Given the description of an element on the screen output the (x, y) to click on. 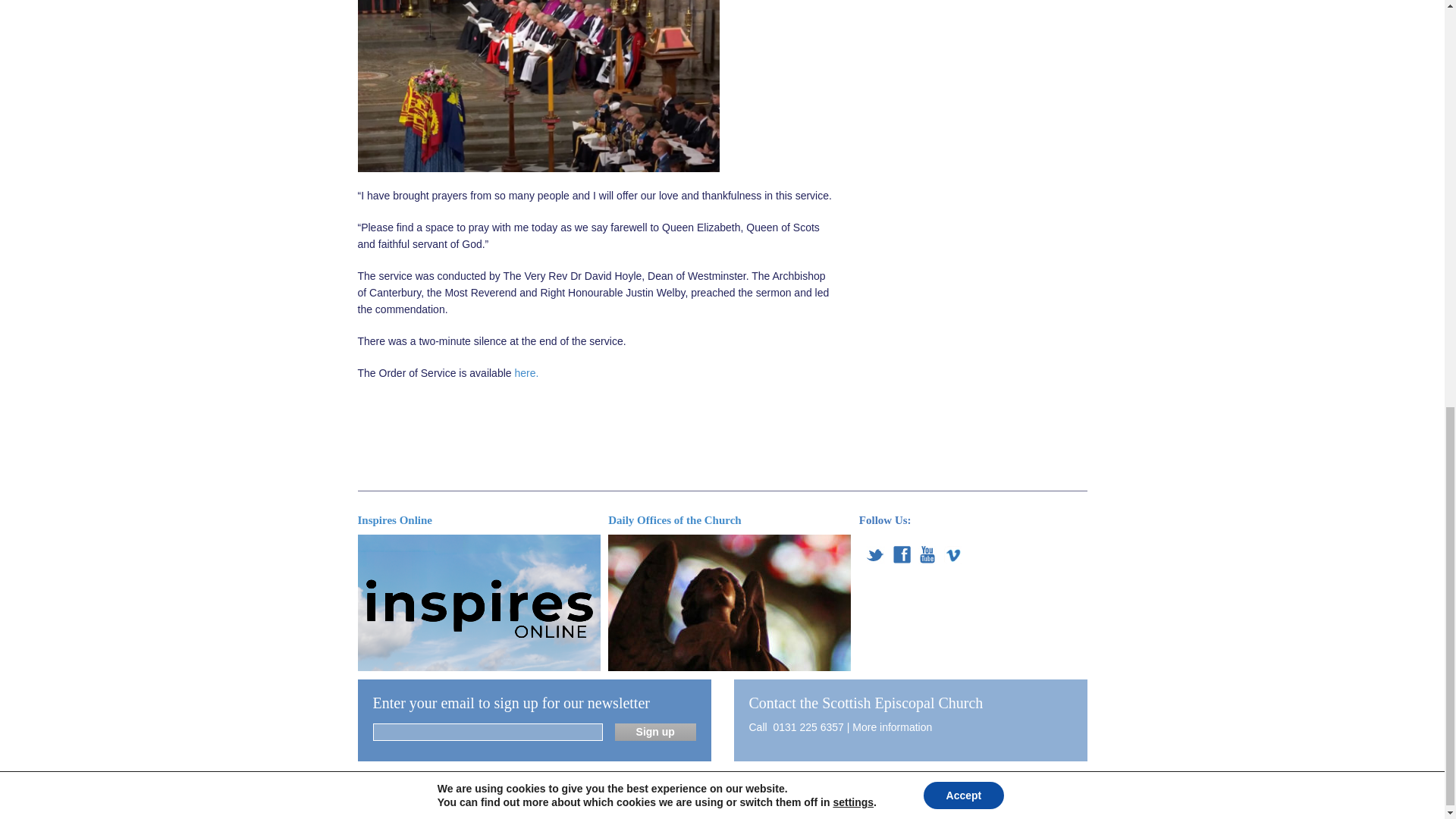
Sign up (654, 732)
